Given the description of an element on the screen output the (x, y) to click on. 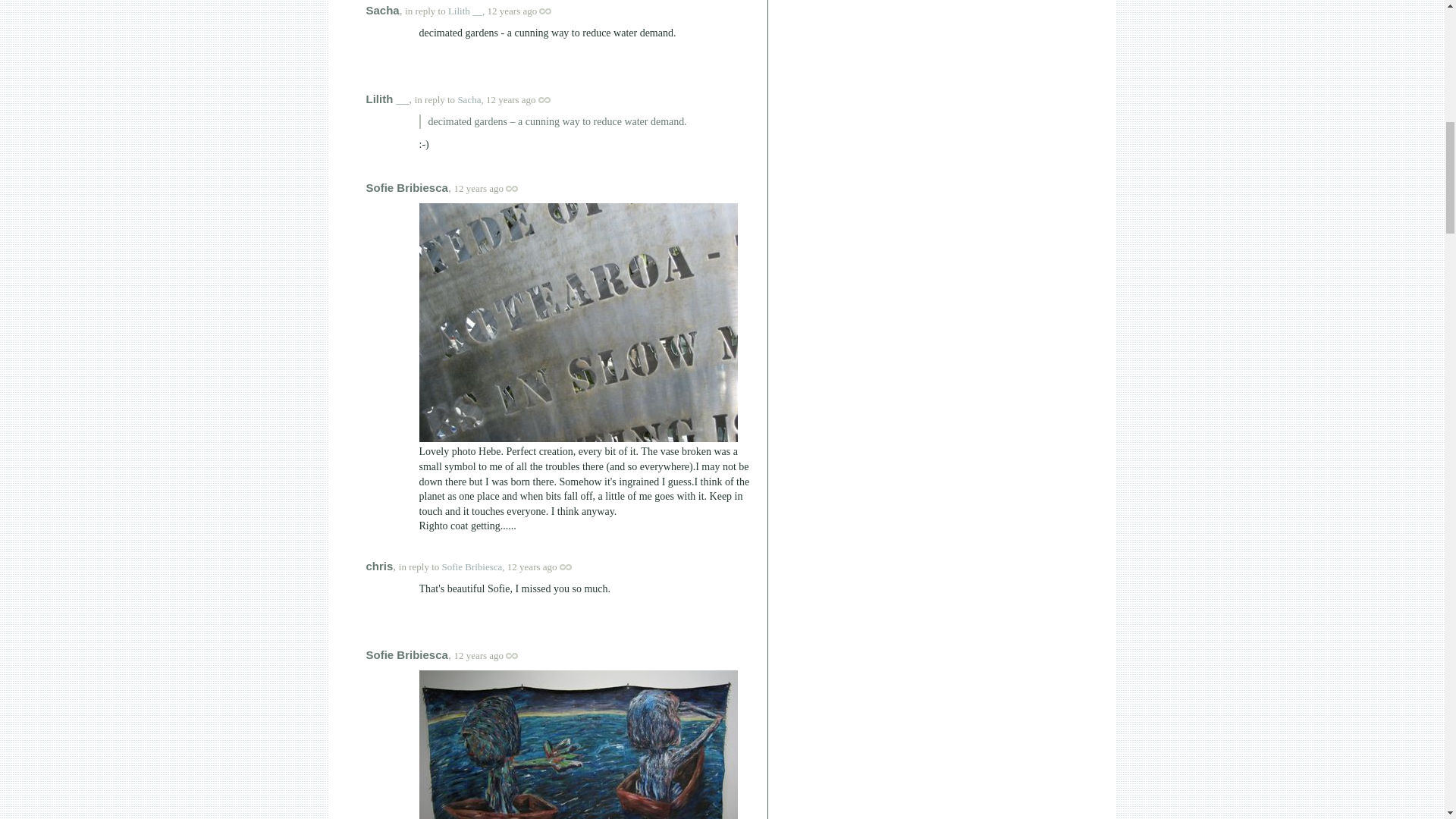
22:37 Feb 22, 2012 (477, 188)
08:35 Feb 23, 2012 (477, 655)
12 years ago (527, 10)
21:55 Feb 22, 2012 (512, 10)
23:05 Feb 22, 2012 (531, 566)
Sacha (381, 10)
22:19 Feb 22, 2012 (510, 99)
